Given the description of an element on the screen output the (x, y) to click on. 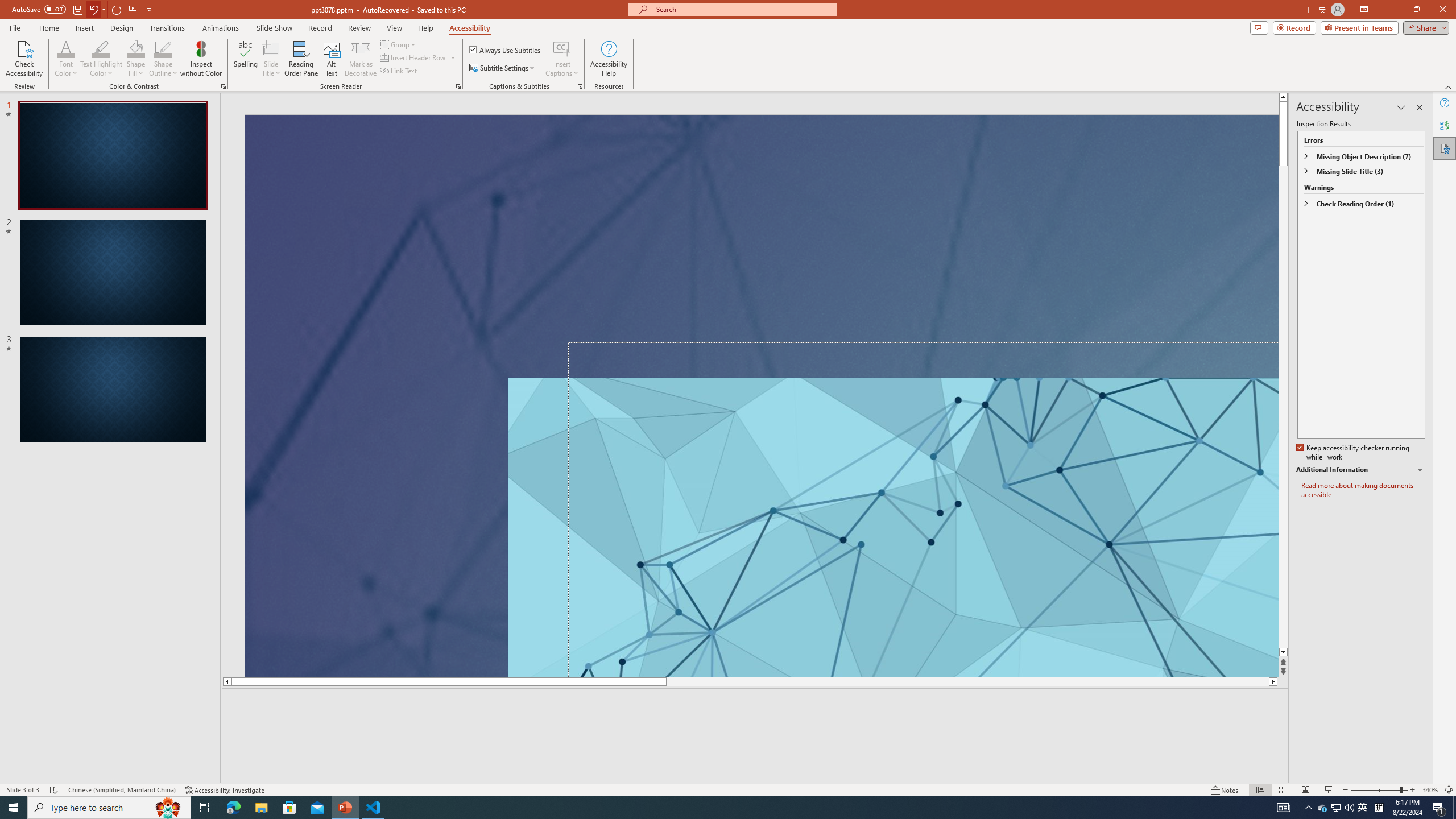
Slide Title (271, 48)
Additional Information (1360, 469)
Screen Reader (458, 85)
Slide Title (271, 58)
